Given the description of an element on the screen output the (x, y) to click on. 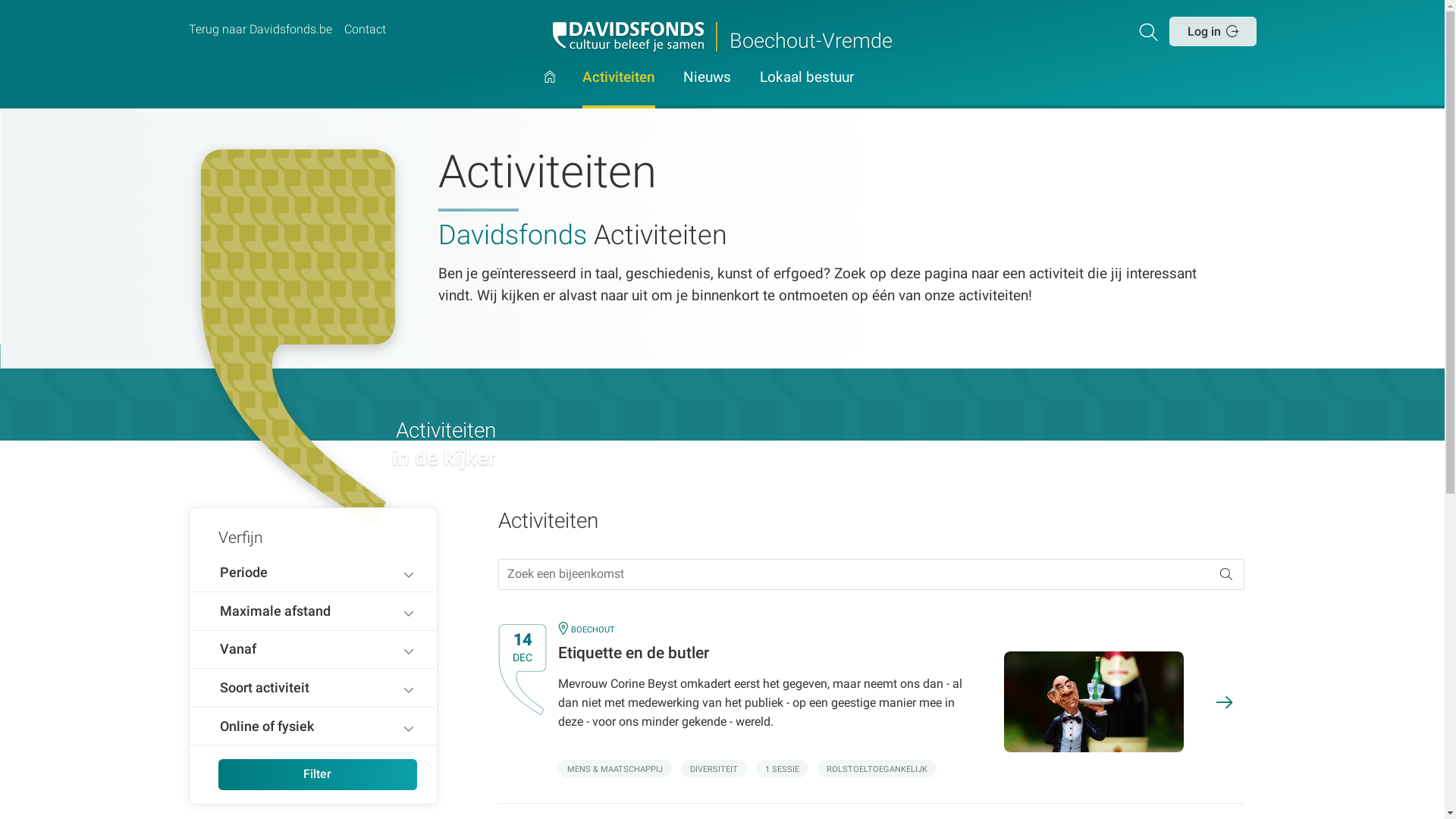
Zoeken Element type: text (1150, 31)
Log in Element type: text (1212, 30)
Nieuws Element type: text (707, 89)
Filter Element type: text (317, 774)
BOECHOUT Element type: text (593, 629)
Boechout-Vremde Element type: text (721, 36)
Activiteiten Element type: text (618, 89)
Lokaal bestuur Element type: text (806, 89)
Hoofdpagina Element type: text (549, 89)
Contact Element type: text (364, 30)
Terug naar Davidsfonds.be Element type: text (259, 30)
